Given the description of an element on the screen output the (x, y) to click on. 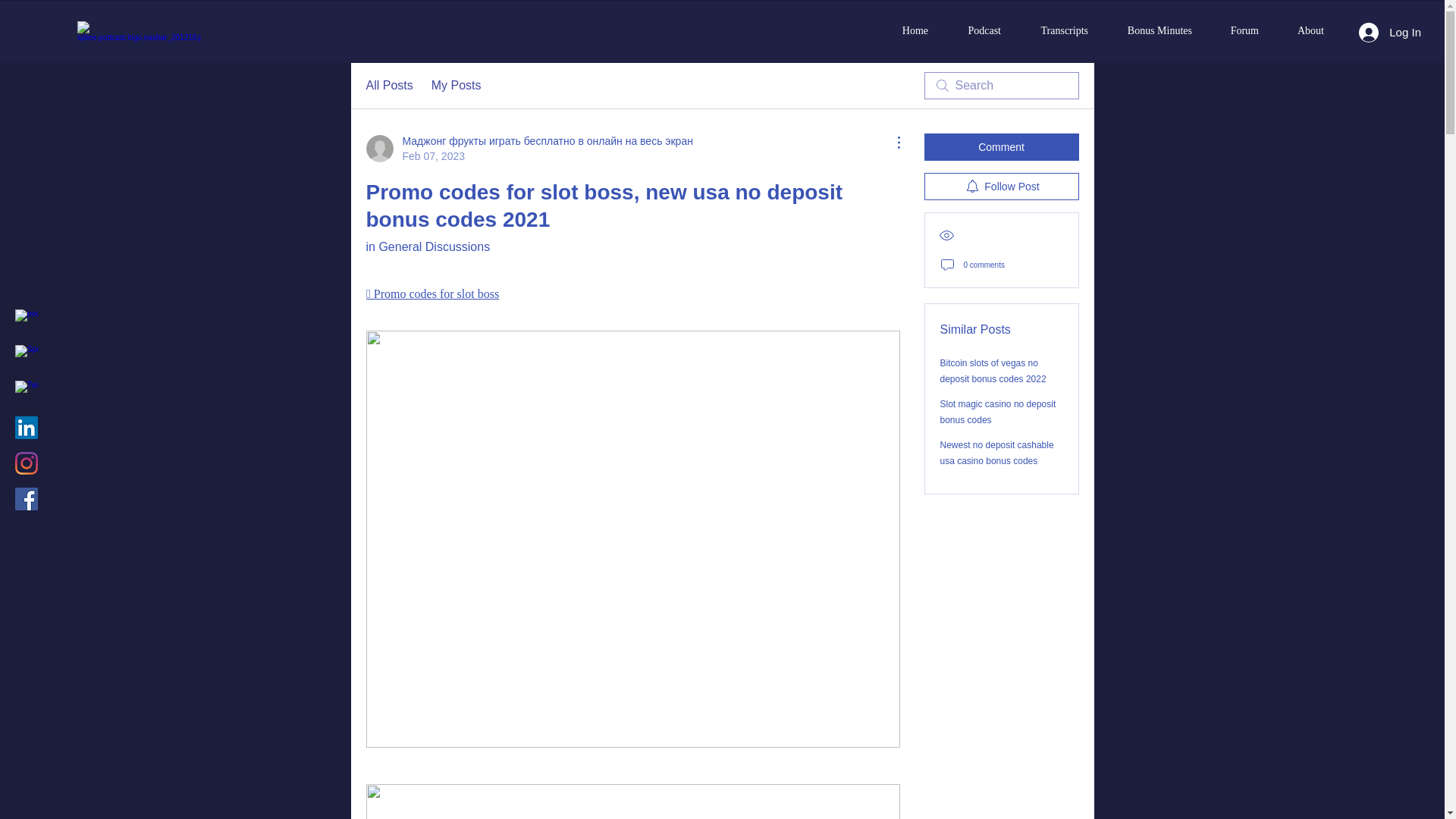
Podcast (975, 30)
Forum (1236, 30)
Slot magic casino no deposit bonus codes (998, 411)
in General Discussions (427, 246)
Home (907, 30)
Log In (1389, 32)
Newest no deposit cashable usa casino bonus codes (997, 452)
Bonus Minutes (1151, 30)
Comment (1000, 146)
Follow Post (1000, 185)
